Given the description of an element on the screen output the (x, y) to click on. 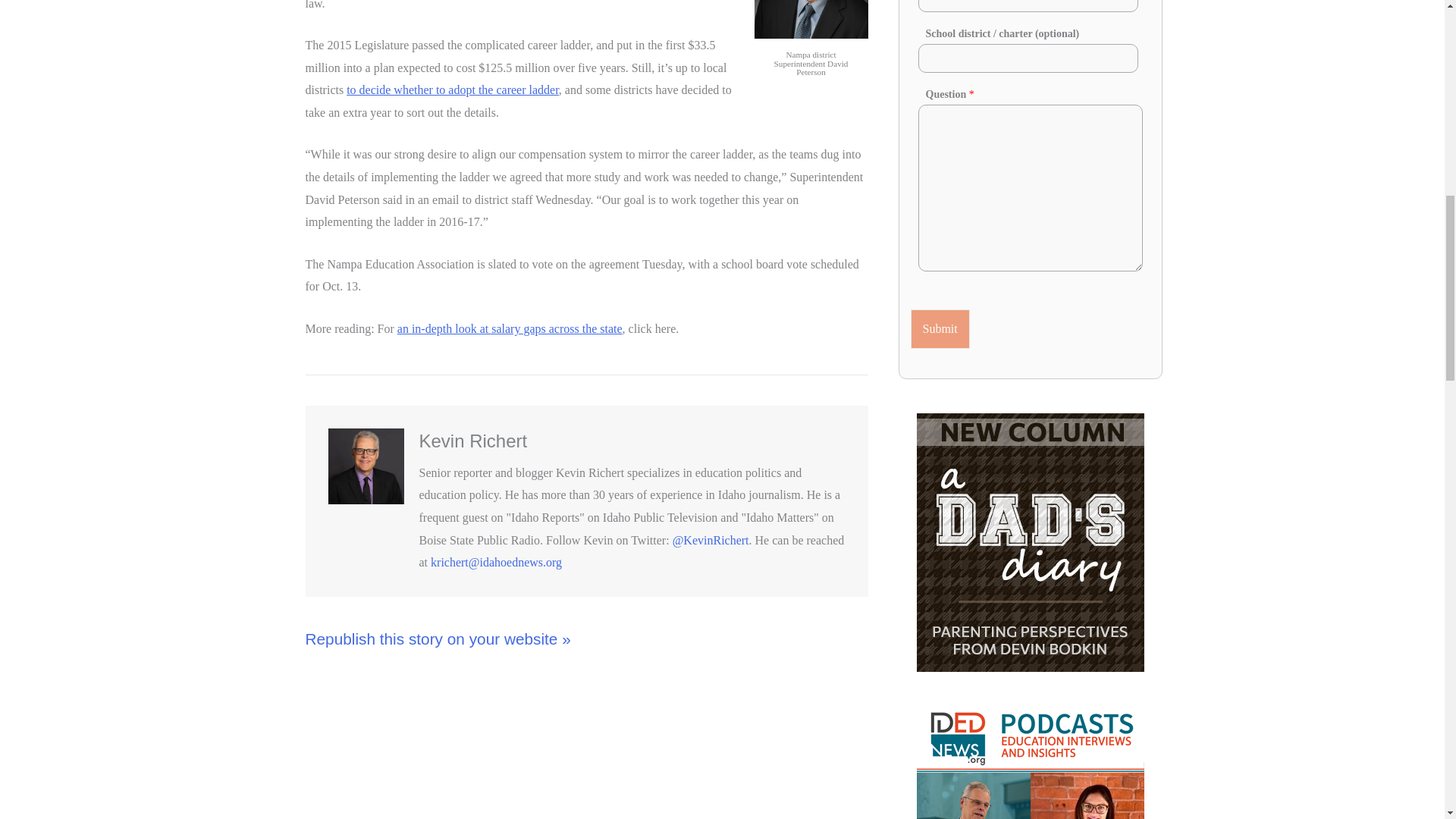
an in-depth look at salary gaps across the state (510, 328)
to decide whether to adopt the career ladder (452, 89)
Submit (939, 328)
